Given the description of an element on the screen output the (x, y) to click on. 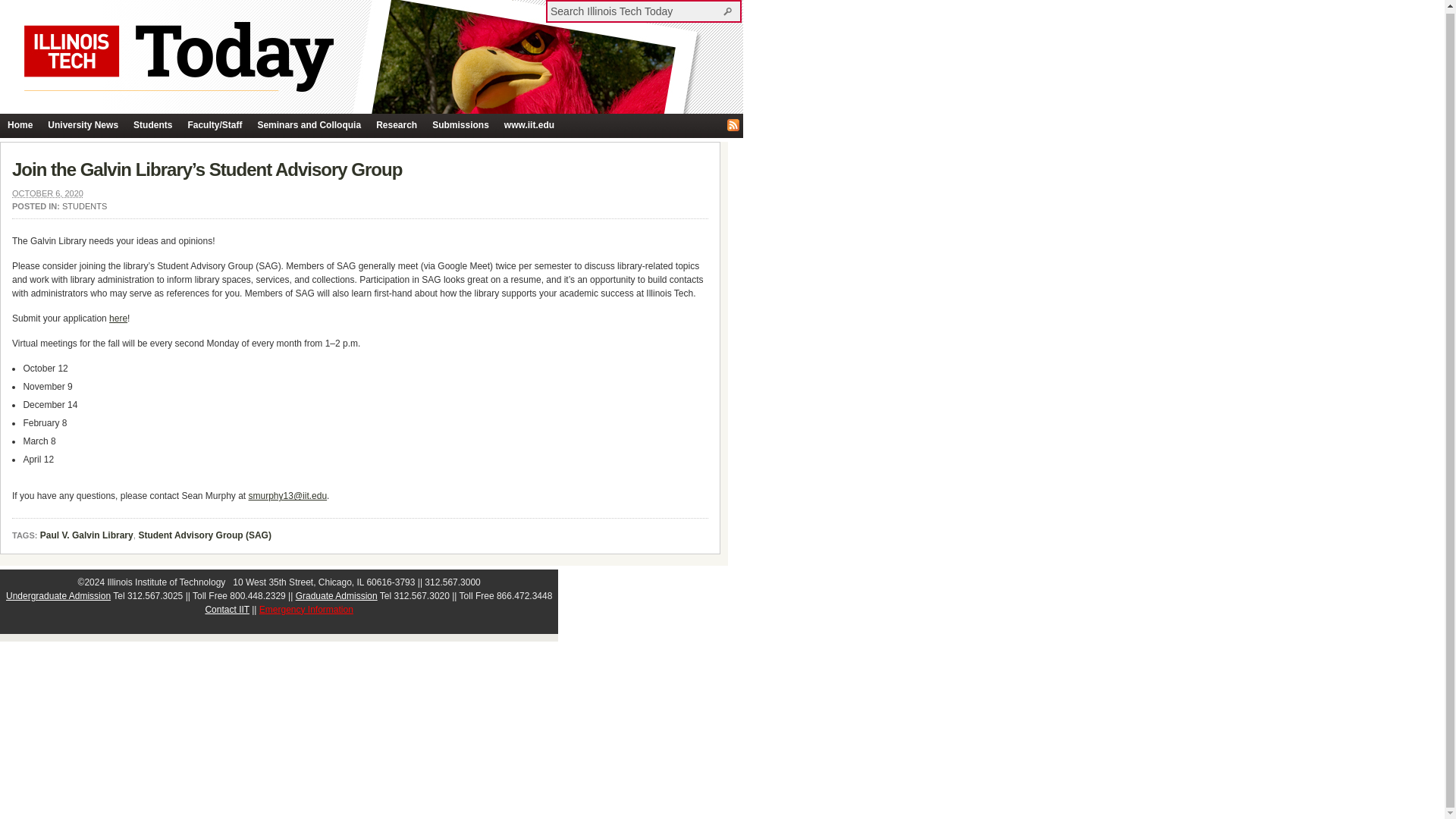
Illinois Tech Today RSS Feed (732, 124)
Search Illinois Tech Today (729, 10)
Search Illinois Tech Today (636, 10)
Submissions (460, 125)
Undergraduate Admission (57, 595)
Graduate Admission (336, 595)
Paul V. Galvin Library (86, 535)
2020-10-06T16:02:18-05:00 (46, 193)
Contact IIT (226, 609)
Students (152, 125)
